Given the description of an element on the screen output the (x, y) to click on. 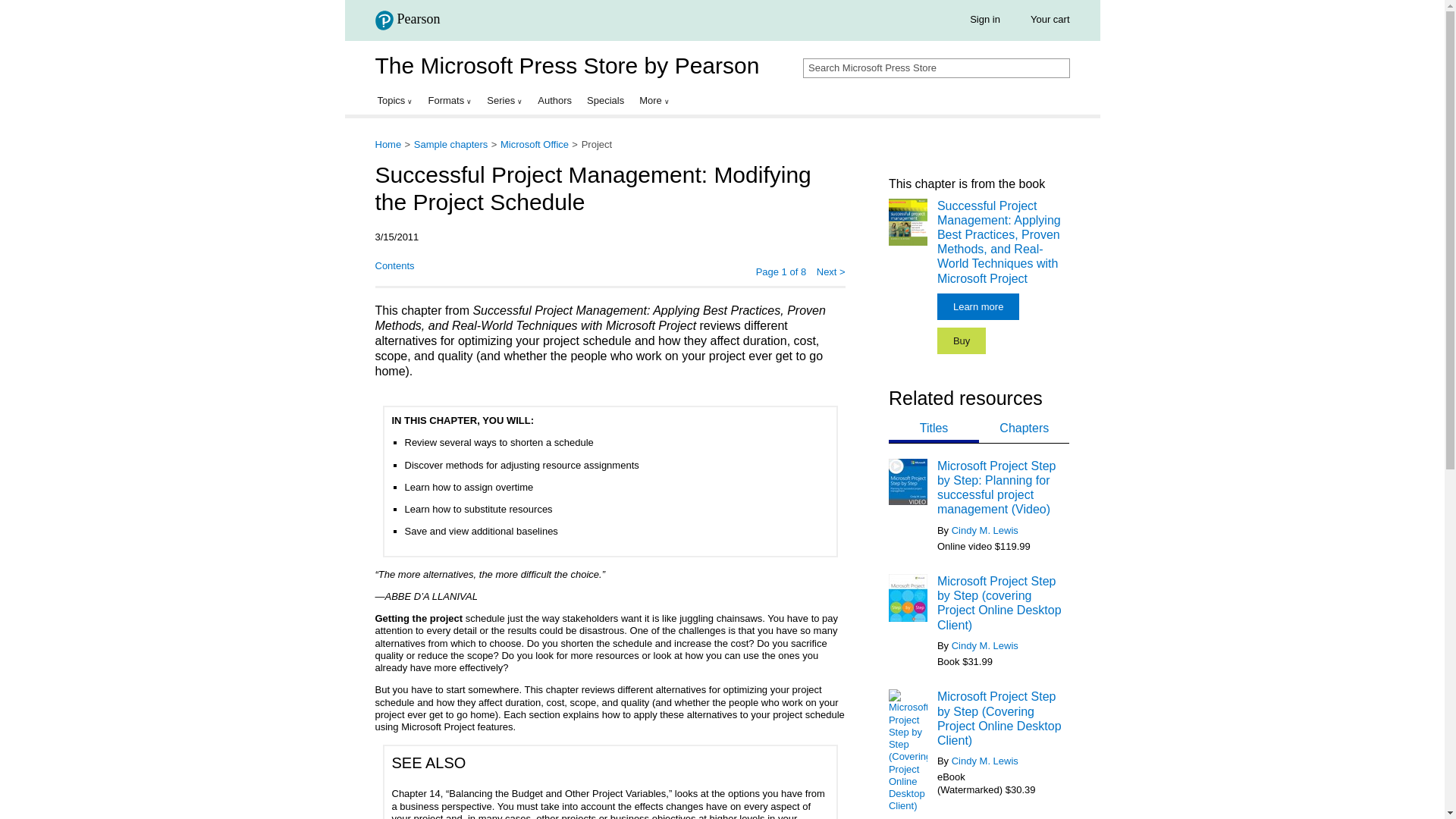
Authors (554, 100)
Your cart (1050, 19)
Sign in (984, 19)
Pearson (411, 22)
The Microsoft Press Store by Pearson (566, 65)
Specials (605, 100)
Pearson (406, 20)
Print (437, 267)
